Given the description of an element on the screen output the (x, y) to click on. 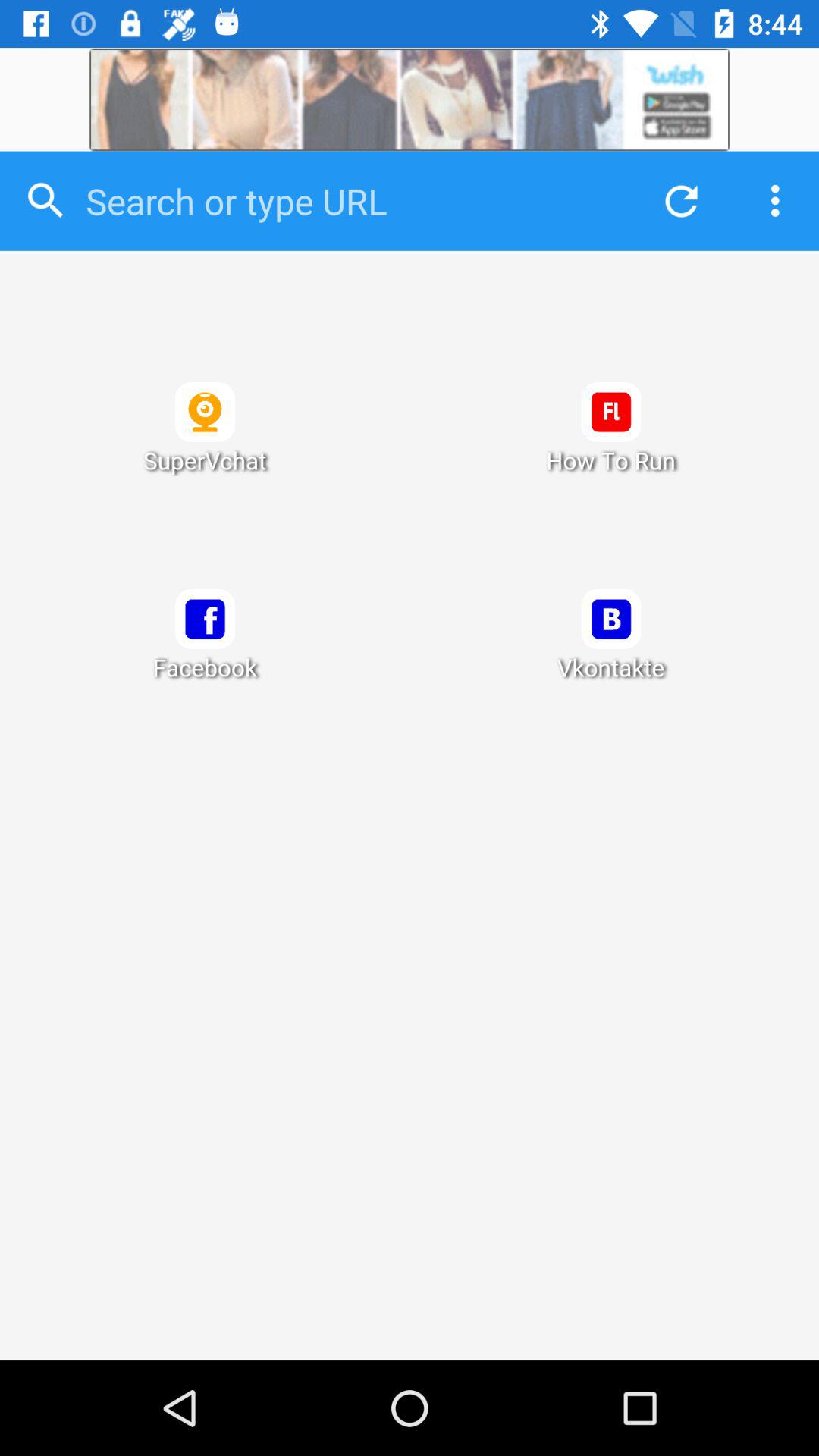
entire clickable area (409, 805)
